Given the description of an element on the screen output the (x, y) to click on. 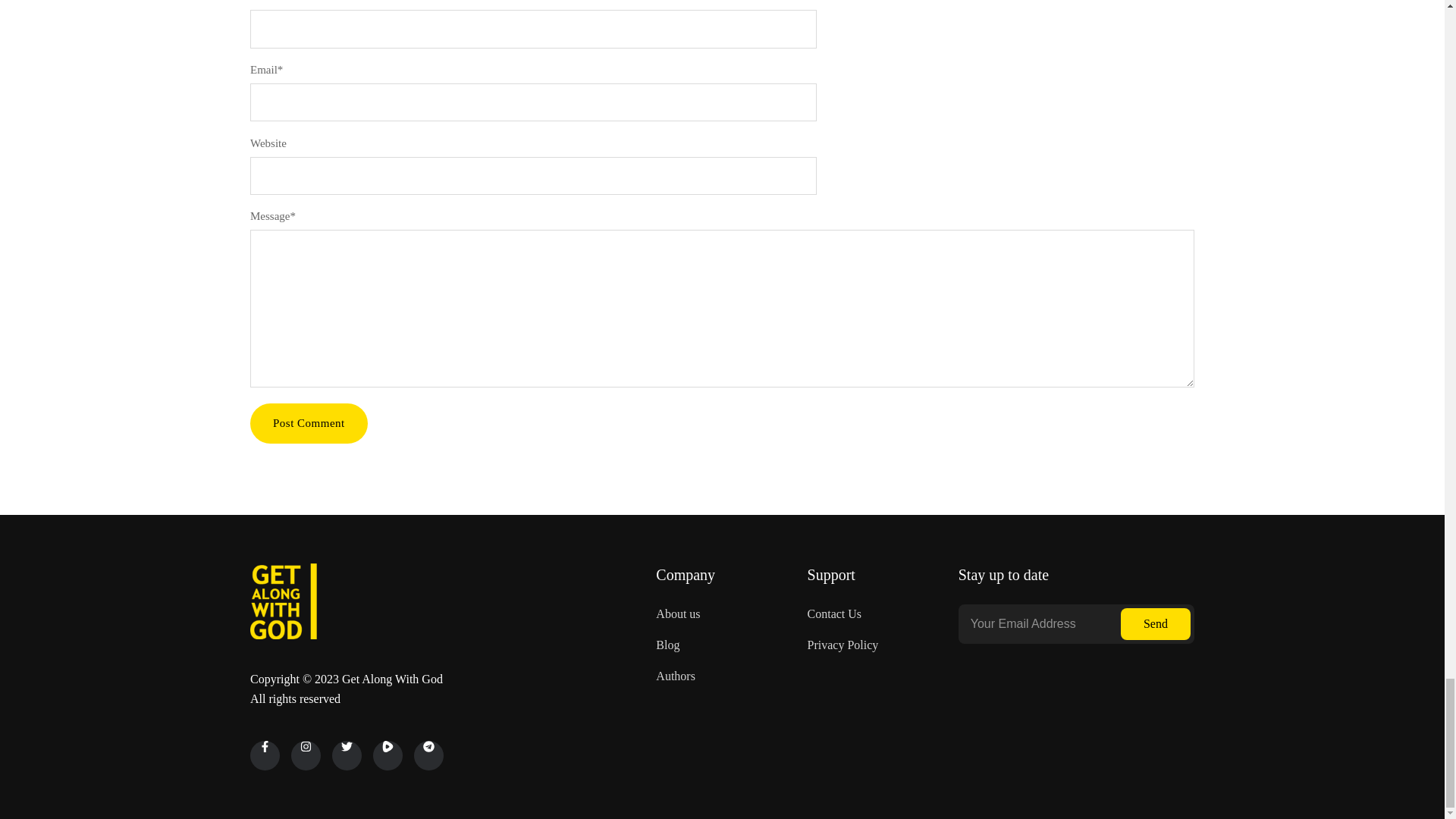
Post Comment (309, 423)
Send (1156, 623)
